Given the description of an element on the screen output the (x, y) to click on. 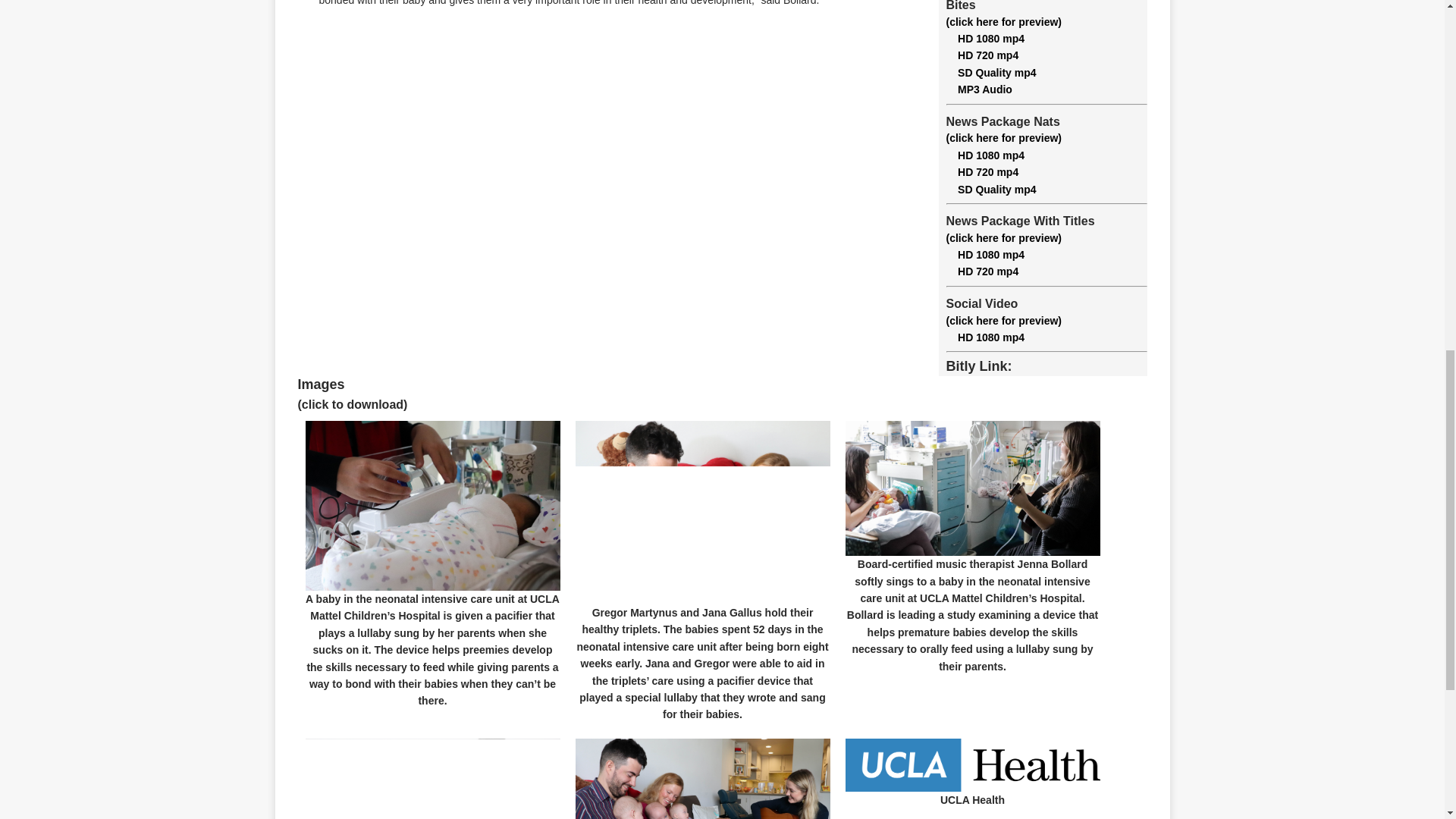
    SD Quality mp4 (991, 72)
Twitter (261, 38)
    MP3 Audio (978, 89)
Email (261, 99)
    HD 720 mp4 (982, 55)
    HD 1080 mp4 (985, 38)
    SD Quality mp4 (991, 189)
    HD 1080 mp4 (985, 254)
    HD 720 mp4 (982, 172)
Facebook (261, 69)
    HD 1080 mp4 (985, 155)
Email (261, 99)
Facebook (261, 69)
Twitter (261, 38)
